Given the description of an element on the screen output the (x, y) to click on. 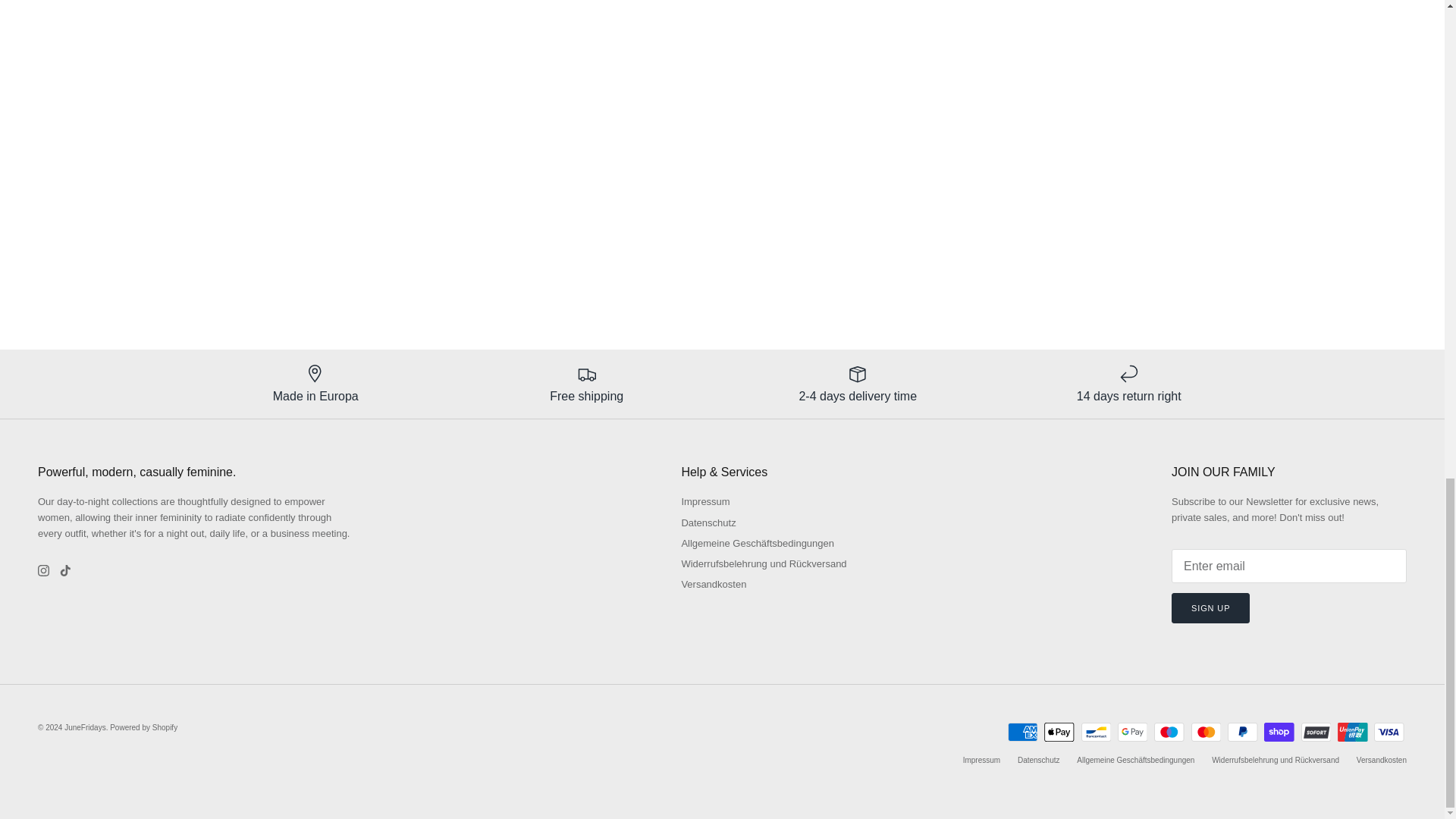
American Express (1022, 732)
Mastercard (1206, 732)
Apple Pay (1058, 732)
Google Pay (1132, 732)
Instagram (43, 570)
Maestro (1168, 732)
PayPal (1242, 732)
Shop Pay (1278, 732)
Bancontact (1095, 732)
